Given the description of an element on the screen output the (x, y) to click on. 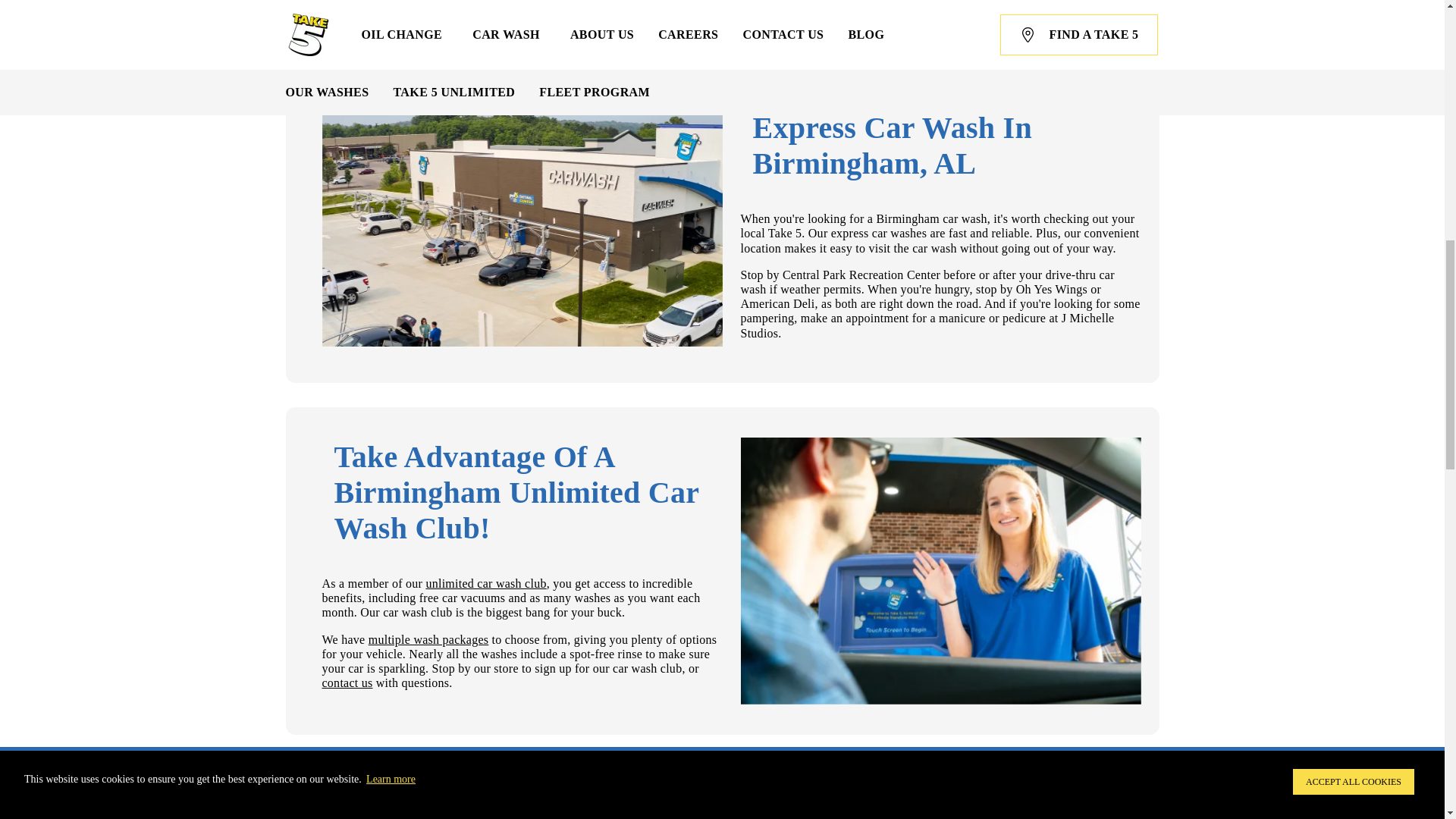
multiple wash packages (428, 639)
Birmingham (383, 4)
Alabama (309, 4)
contact us (346, 682)
unlimited car wash club (485, 583)
